Given the description of an element on the screen output the (x, y) to click on. 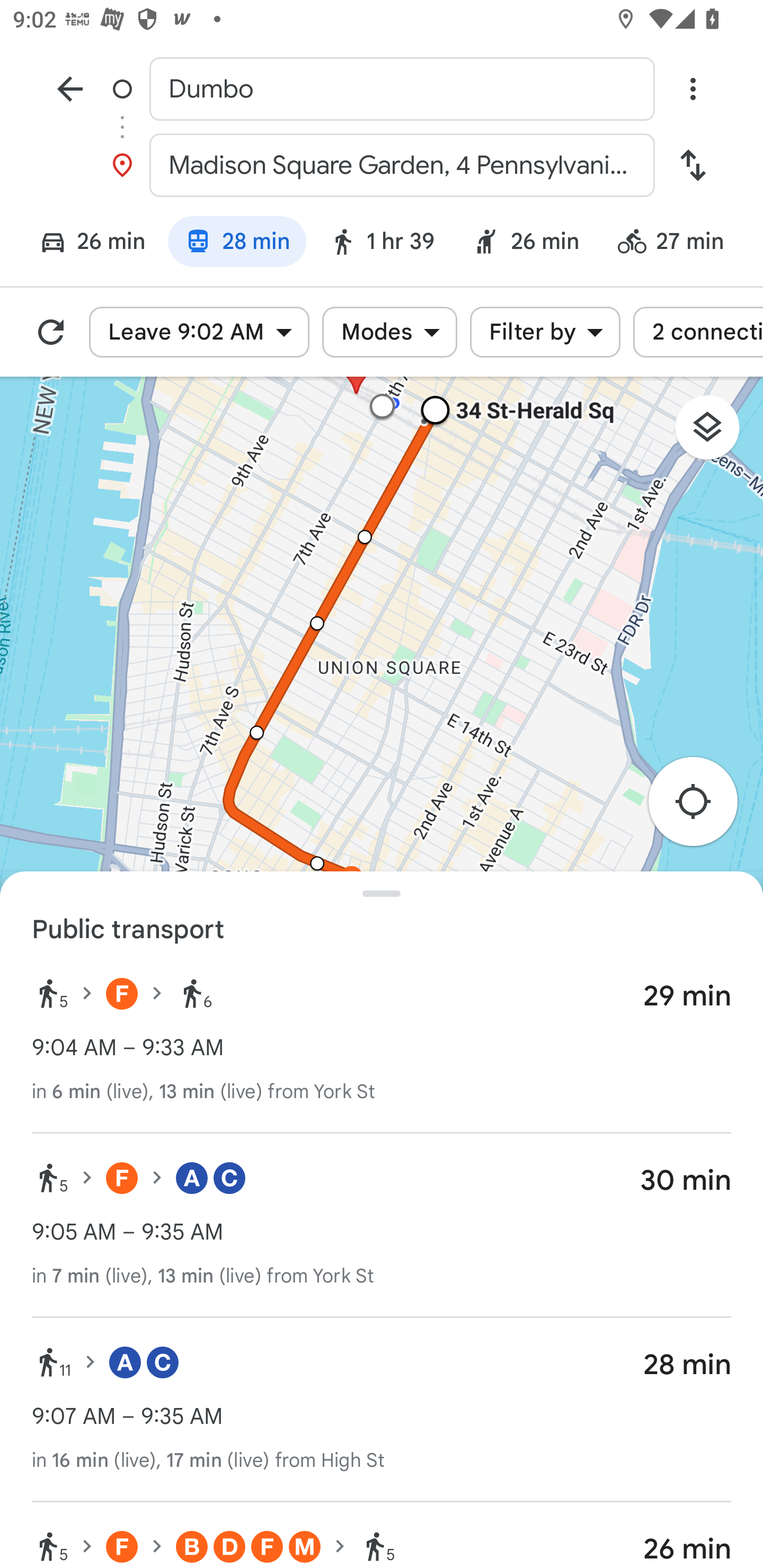
Navigate up (70, 88)
Dumbo Start location, Dumbo (381, 88)
Overflow menu (692, 88)
Swap start and destination (692, 165)
Driving mode: 26 min 26 min (83, 244)
Walking mode: 1 hr 39 1 hr 39 (381, 244)
Ride service: 26 min 26 min (525, 244)
Bicycling mode: 27 min 27 min (678, 244)
Refresh (50, 332)
Leave 9:02 AM Leave 9:02 AM Leave 9:02 AM (199, 332)
Modes Modes Modes (389, 332)
Filter by Filter by Filter by (545, 332)
Layers (716, 433)
Re-center map to your location (702, 807)
